Given the description of an element on the screen output the (x, y) to click on. 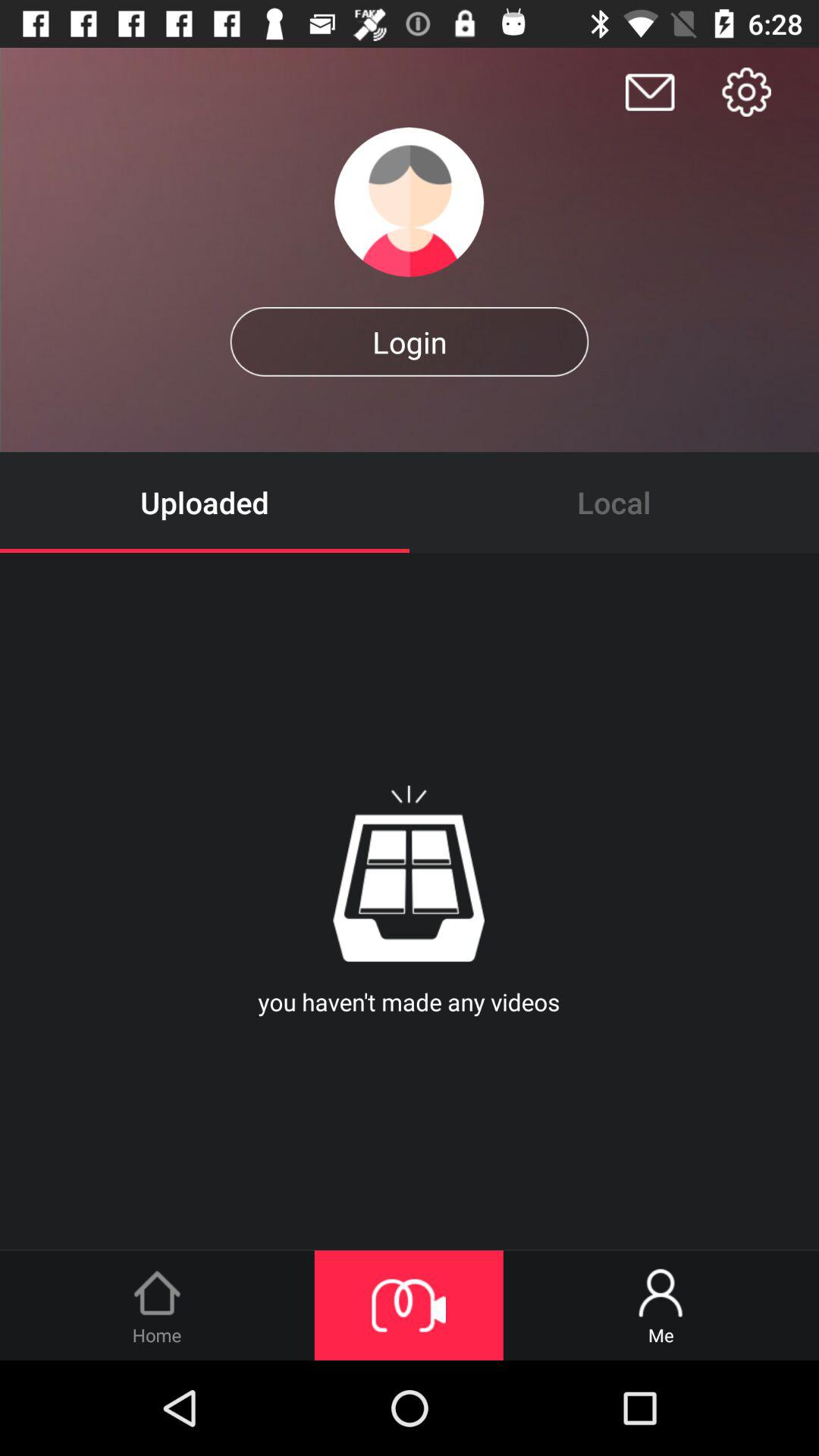
adjust settings (746, 91)
